Given the description of an element on the screen output the (x, y) to click on. 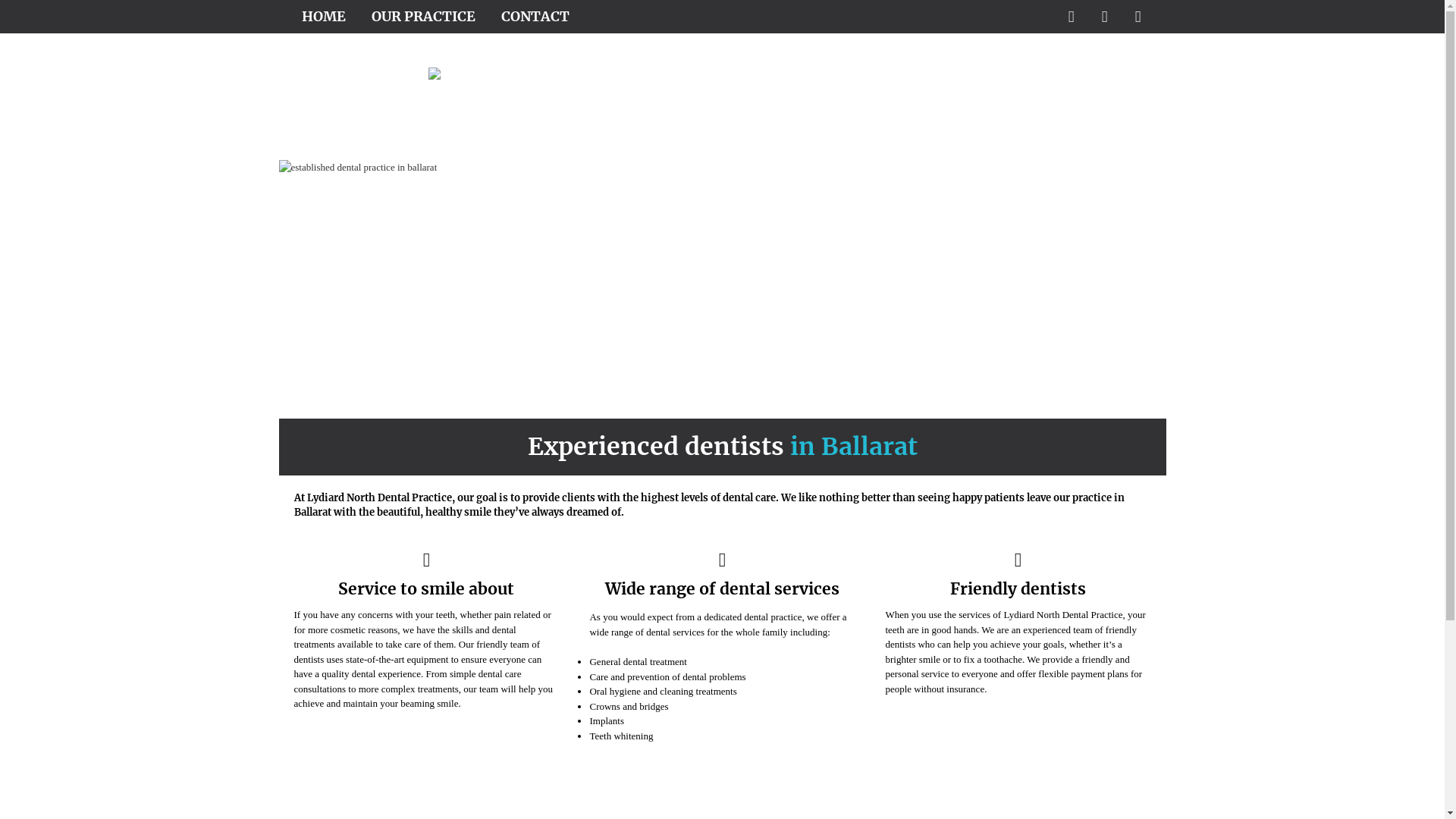
HOME Element type: text (323, 16)
03 5331 3325 Element type: text (1078, 798)
lydiard north dental practice logo Element type: hover (499, 80)
03 5331 3325 Element type: text (1073, 149)
OUR PRACTICE Element type: text (423, 16)
established dental practice in ballarat Element type: hover (722, 289)
CONTACT Element type: text (534, 16)
